Given the description of an element on the screen output the (x, y) to click on. 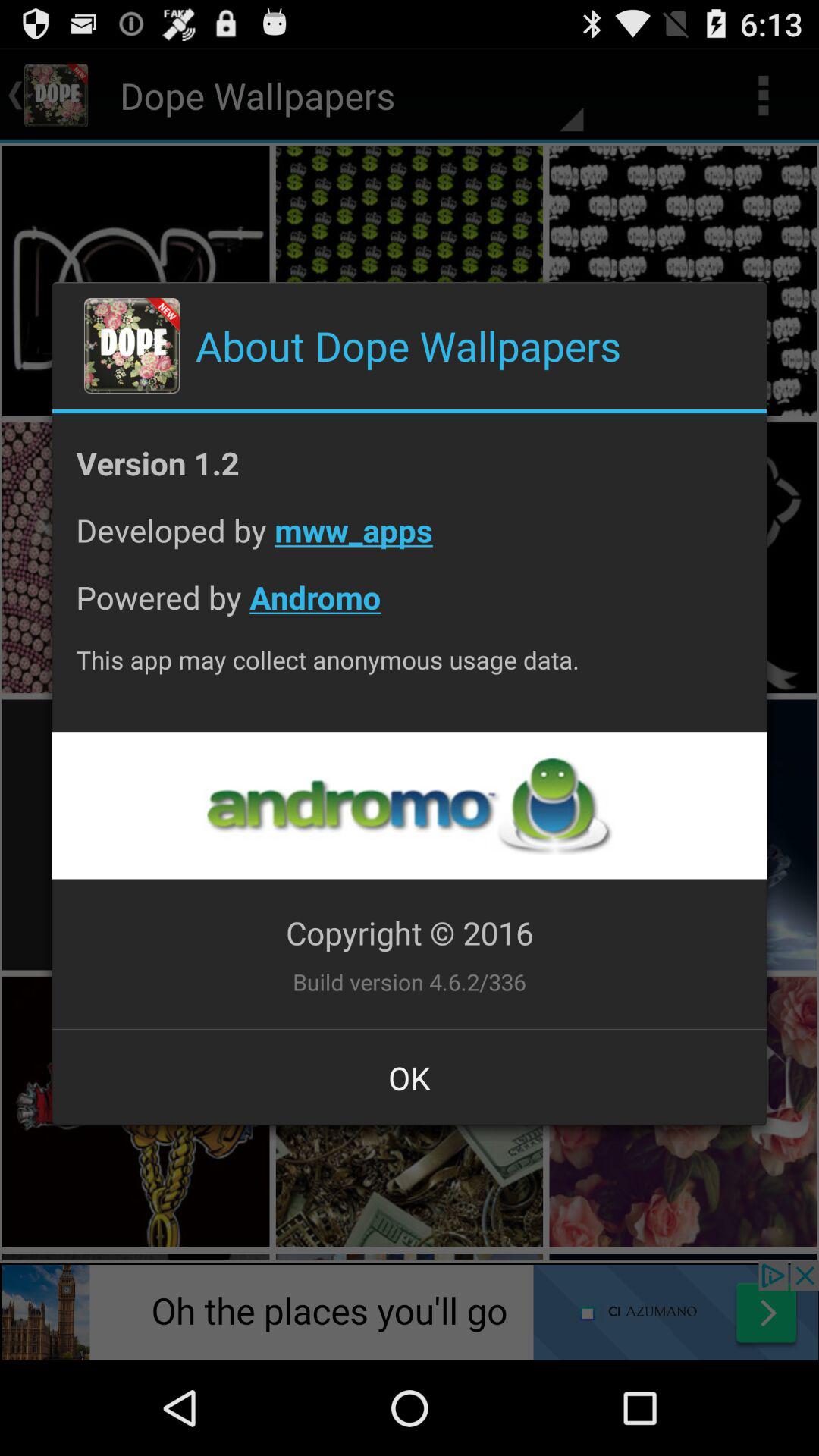
swipe to the powered by andromo item (409, 608)
